Given the description of an element on the screen output the (x, y) to click on. 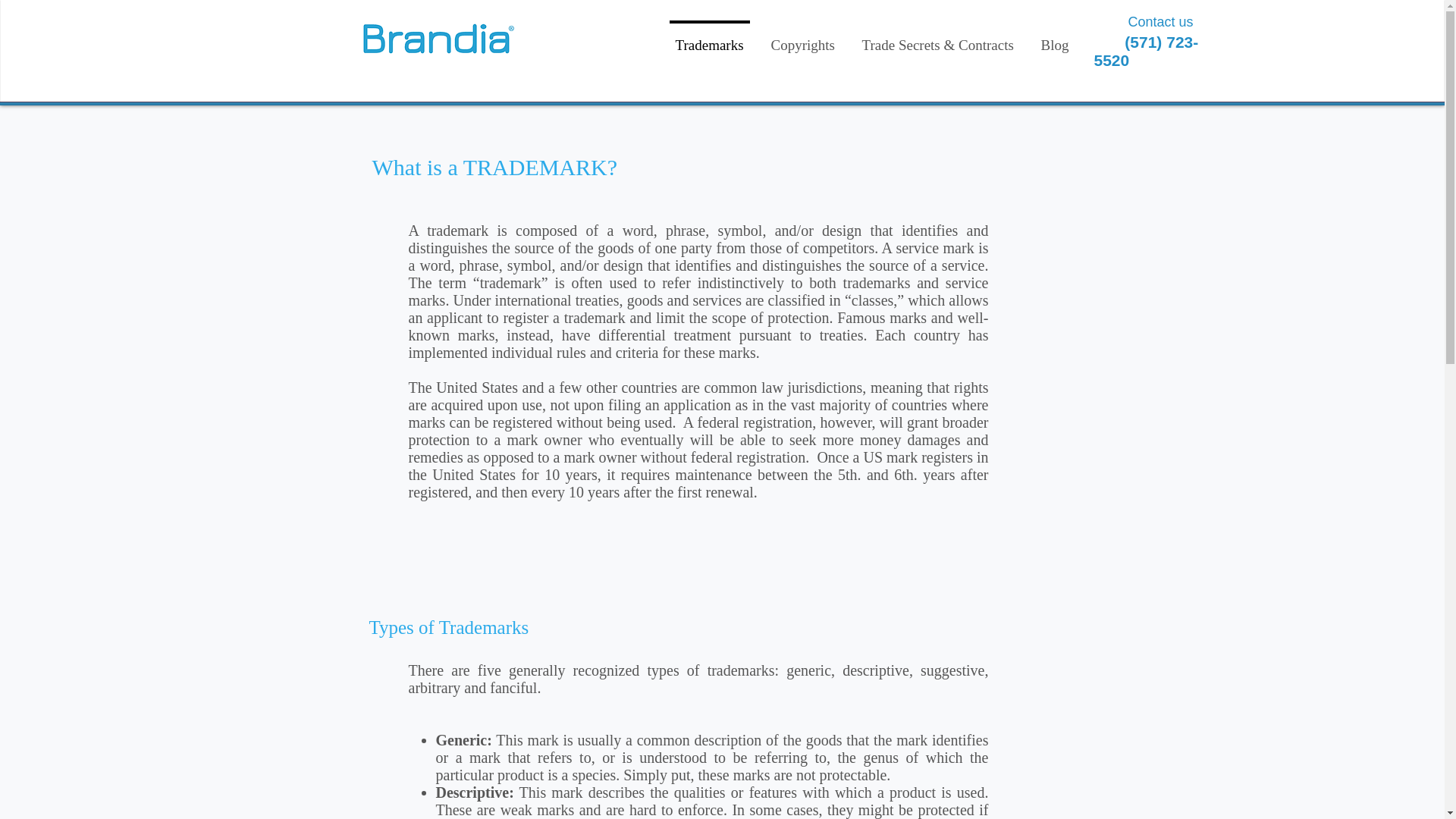
Trademarks (709, 38)
Copyrights (802, 38)
Contact us (1160, 21)
Blog (1053, 38)
